Given the description of an element on the screen output the (x, y) to click on. 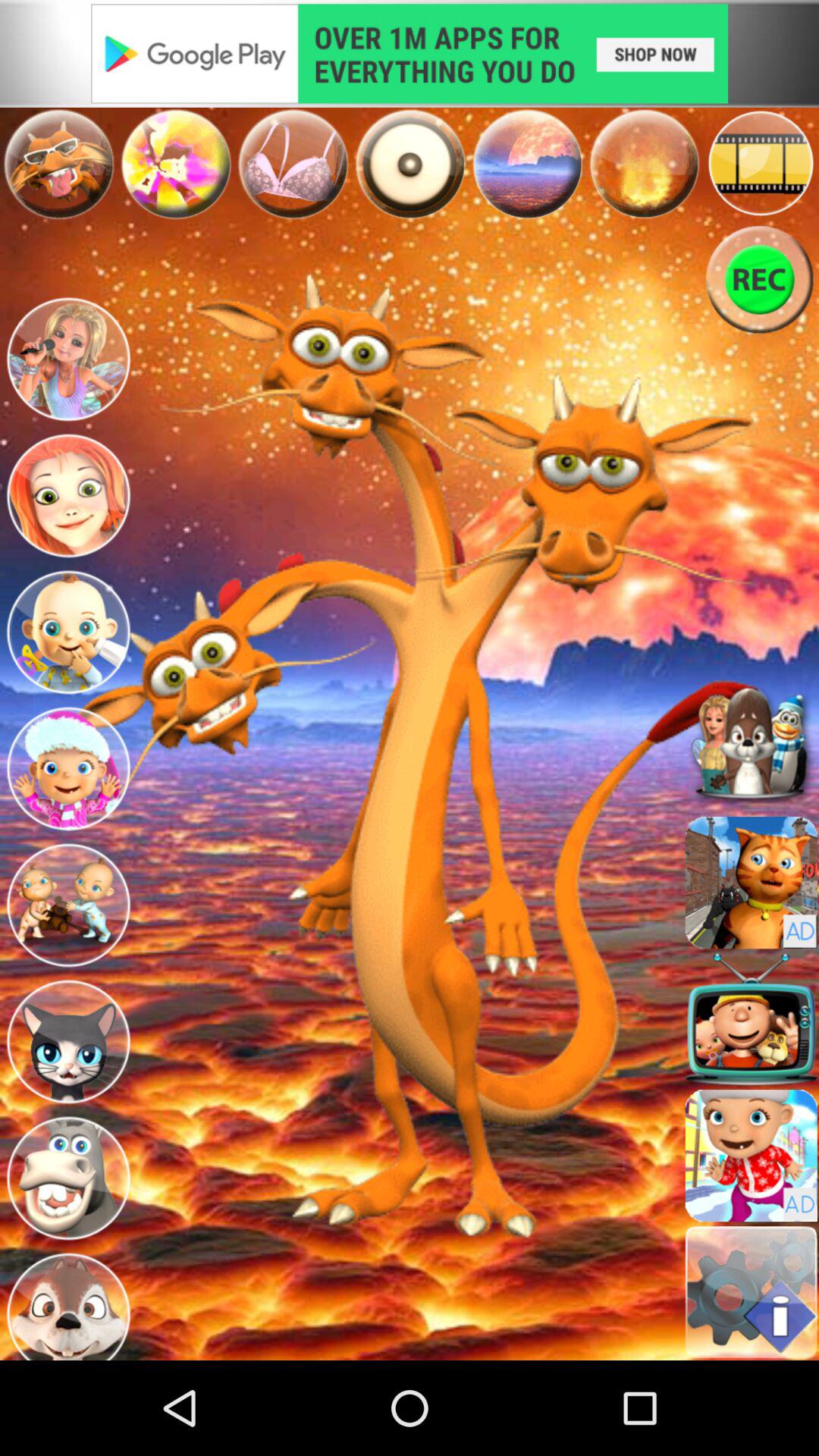
play a sound (751, 1018)
